Given the description of an element on the screen output the (x, y) to click on. 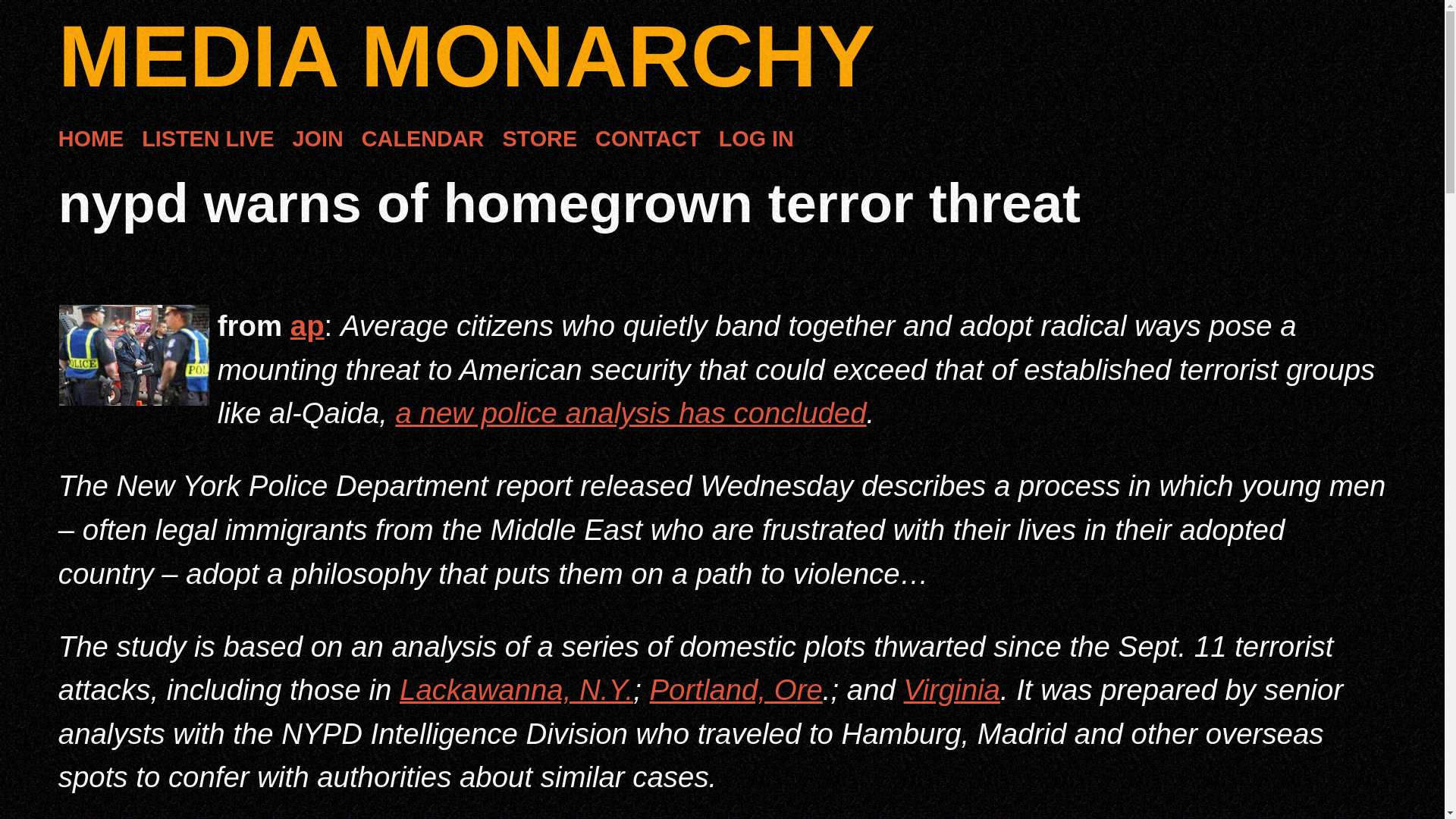
a new police analysis has concluded (631, 412)
STORE (539, 138)
LOG IN (756, 138)
MEDIA MONARCHY (466, 55)
Portland, Ore (735, 689)
Virginia (952, 689)
ap (306, 325)
LISTEN LIVE (207, 138)
CALENDAR (422, 138)
Lackawanna, N.Y. (515, 689)
